Given the description of an element on the screen output the (x, y) to click on. 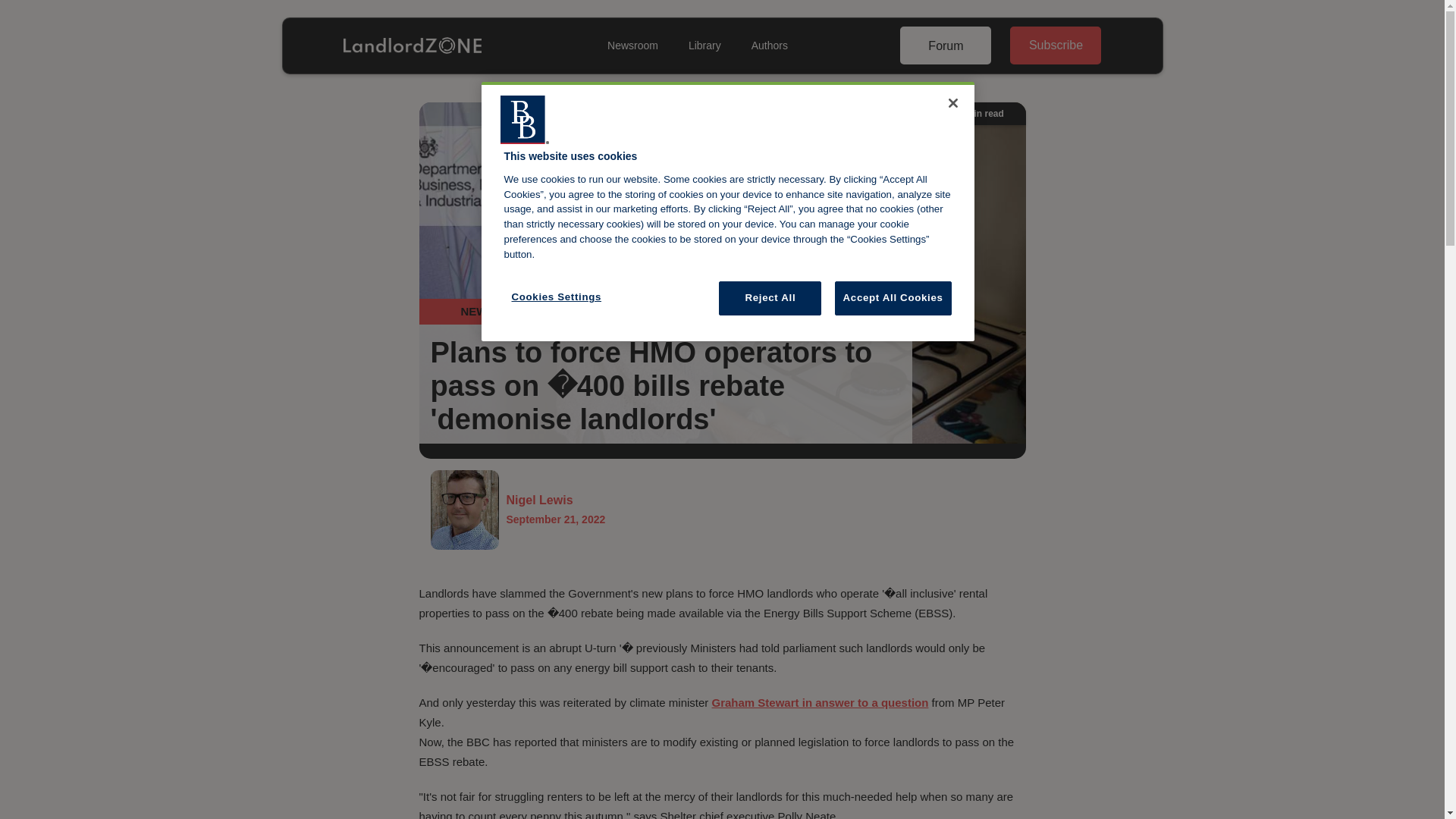
Authors (769, 45)
Graham Stewart in answer to a question (819, 702)
Forum (945, 45)
Subscribe (1055, 45)
Library (705, 45)
Newsroom (555, 509)
